Given the description of an element on the screen output the (x, y) to click on. 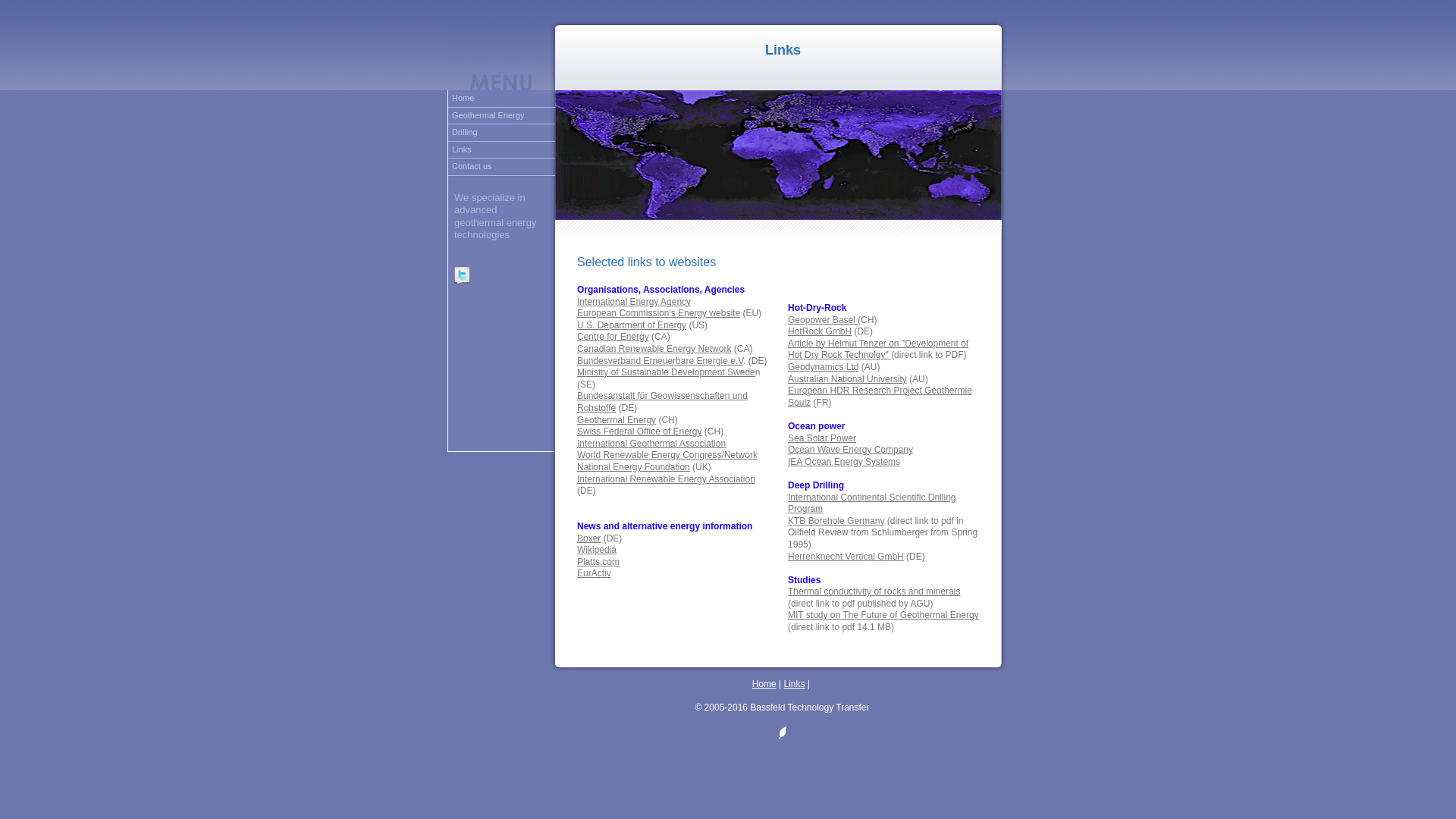
Wikipedia Element type: text (596, 549)
Boxer Element type: text (588, 538)
Bundesverband Erneuerbare Energie e.V Element type: text (660, 360)
HotRock GmbH Element type: text (819, 331)
Ocean Wave Energy Company Element type: text (850, 449)
Thermal conductivity of rocks and minerals Element type: text (873, 591)
MIT study on The Future of Geothermal Energy Element type: text (883, 614)
Platts.com Element type: text (598, 561)
World Renewable Energy Congress/Network Element type: text (667, 454)
National Energy Foundation Element type: text (633, 466)
Geodynamics Ltd Element type: text (822, 366)
EurActiv Element type: text (594, 572)
Home Element type: text (764, 683)
U.S. Department of Energy Element type: text (631, 325)
Links Element type: text (501, 150)
Drilling Element type: text (501, 132)
Sea Solar Power Element type: text (821, 438)
Geothermal Energy Element type: text (501, 116)
Geothermal Energy Element type: text (616, 419)
Canadian Renewable Energy Network Element type: text (654, 348)
Australian National University Element type: text (846, 378)
Links Element type: text (794, 683)
International Continental Scientific Drilling Program Element type: text (871, 503)
International Energy Agency Element type: text (633, 301)
KTB Borehole Germany Element type: text (835, 520)
International Geothermal Association Element type: text (651, 443)
Contact us Element type: text (501, 166)
Herrenknecht Vertical GmbH Element type: text (845, 556)
International Renewable Energy Association Element type: text (666, 478)
Geopower Basel Element type: text (822, 319)
Ministry of Sustainable Development Swede Element type: text (666, 372)
European Commission's Energy website Element type: text (658, 312)
Swiss Federal Office of Energy Element type: text (639, 431)
Home Element type: text (501, 98)
IEA Ocean Energy Systems Element type: text (843, 461)
Centre for Energy Element type: text (613, 336)
